Given the description of an element on the screen output the (x, y) to click on. 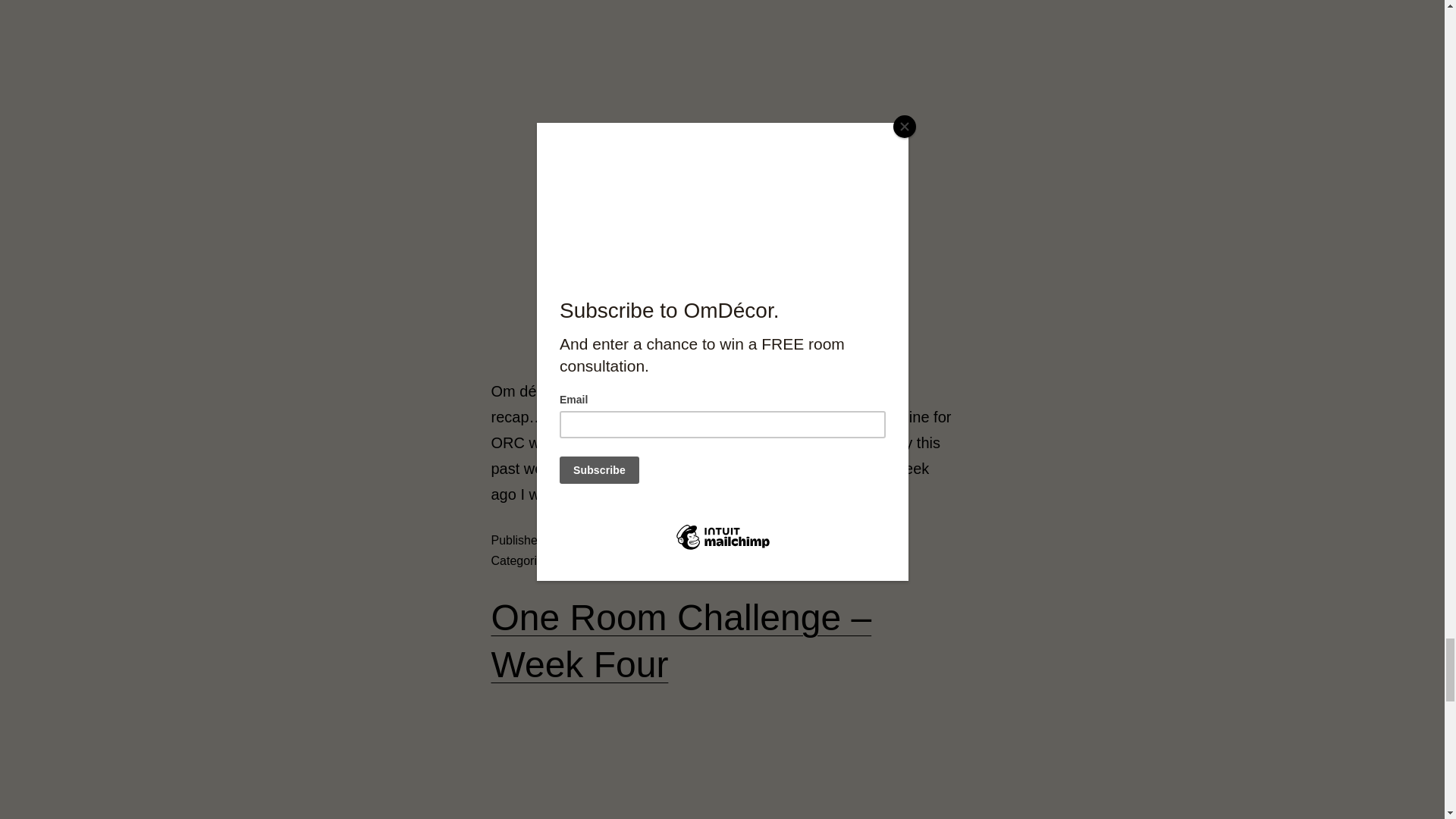
Continue reading (632, 494)
Uncategorized (614, 560)
